Given the description of an element on the screen output the (x, y) to click on. 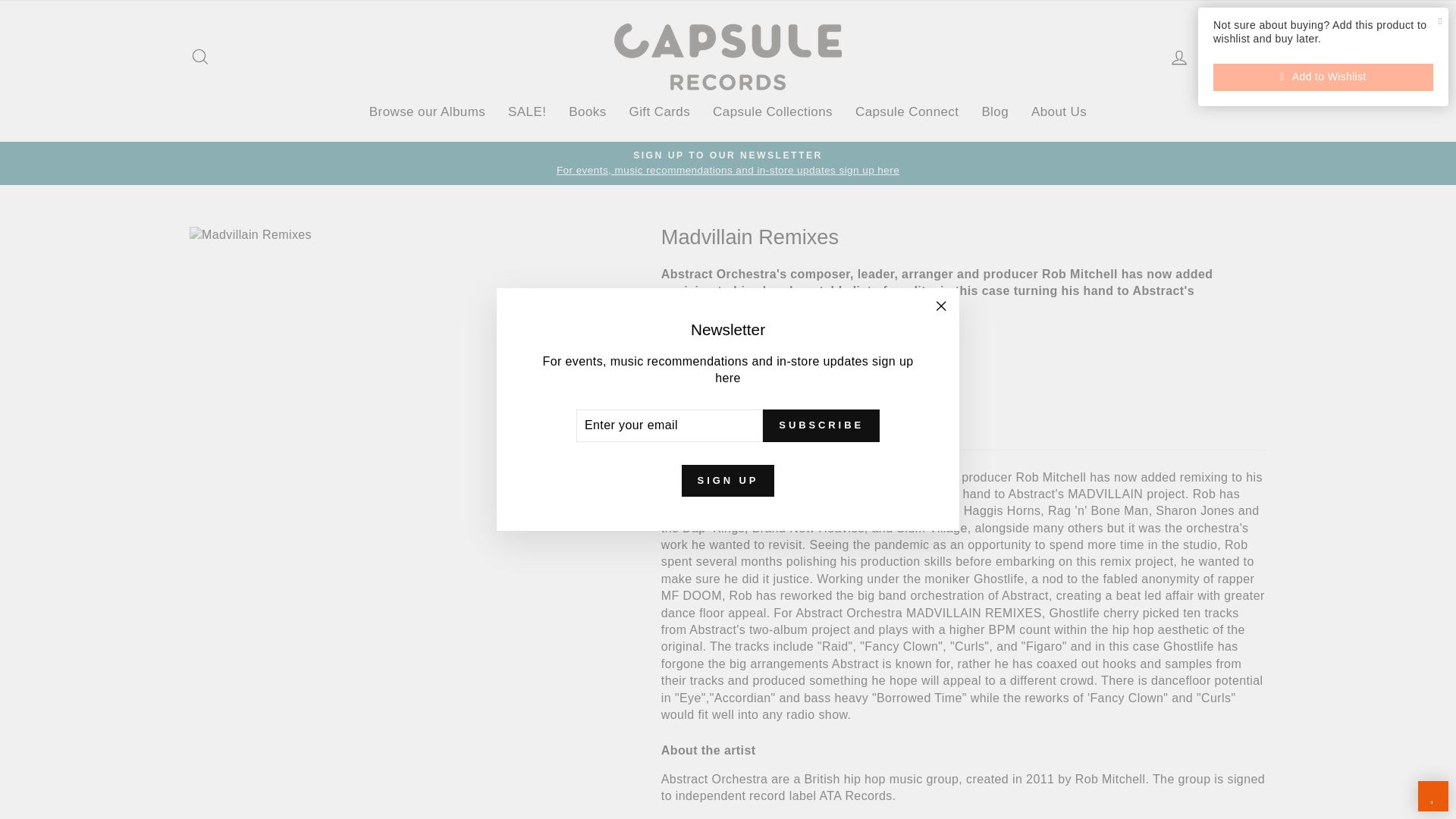
Search (199, 56)
Log in (1178, 56)
Cart (1218, 56)
